Given the description of an element on the screen output the (x, y) to click on. 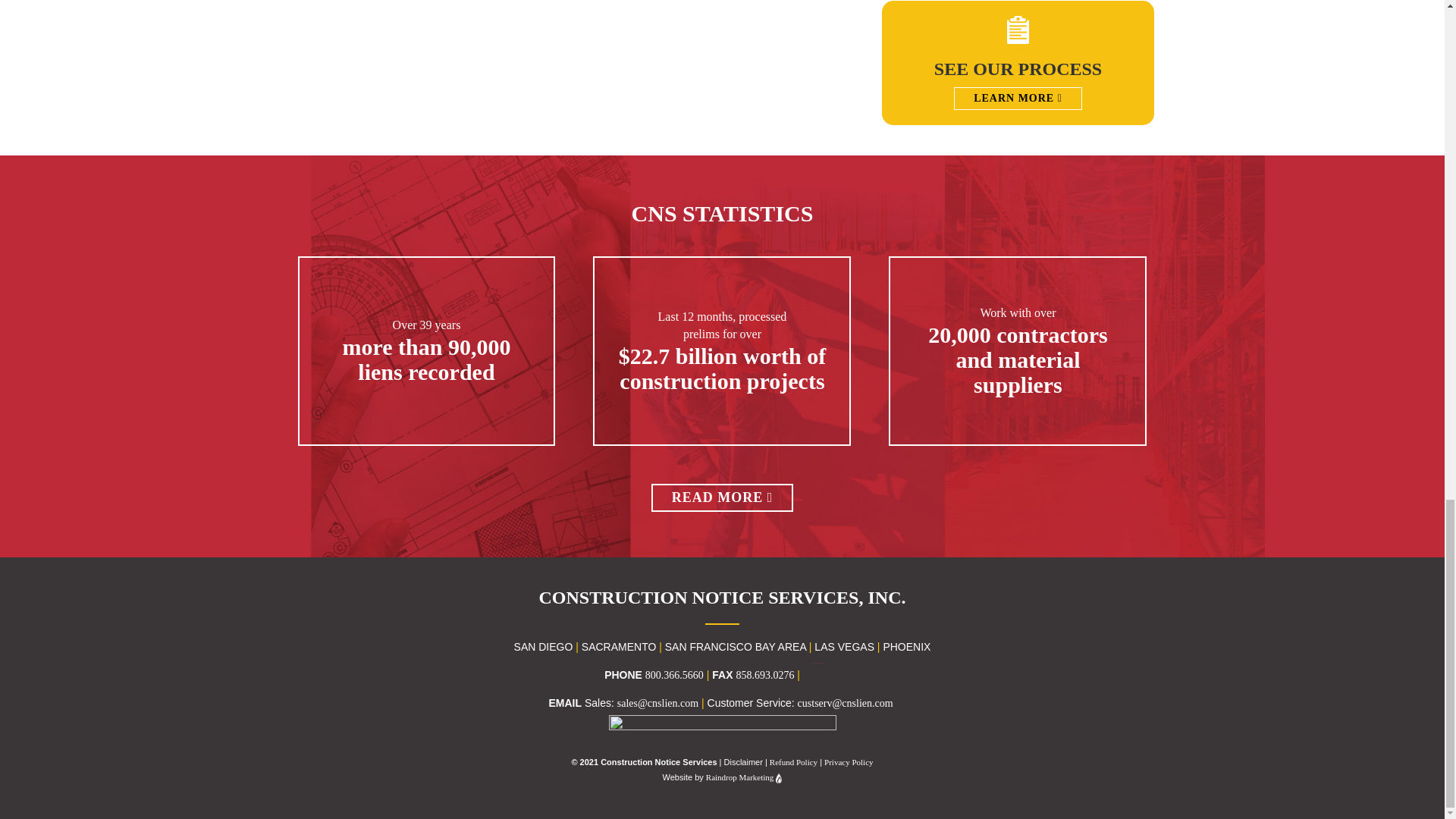
LEARN MORE (1017, 98)
READ MORE (721, 498)
858.693.0276 (764, 674)
LEARN MORE (1017, 97)
800.366.5660 (674, 674)
READ MORE (721, 498)
